Given the description of an element on the screen output the (x, y) to click on. 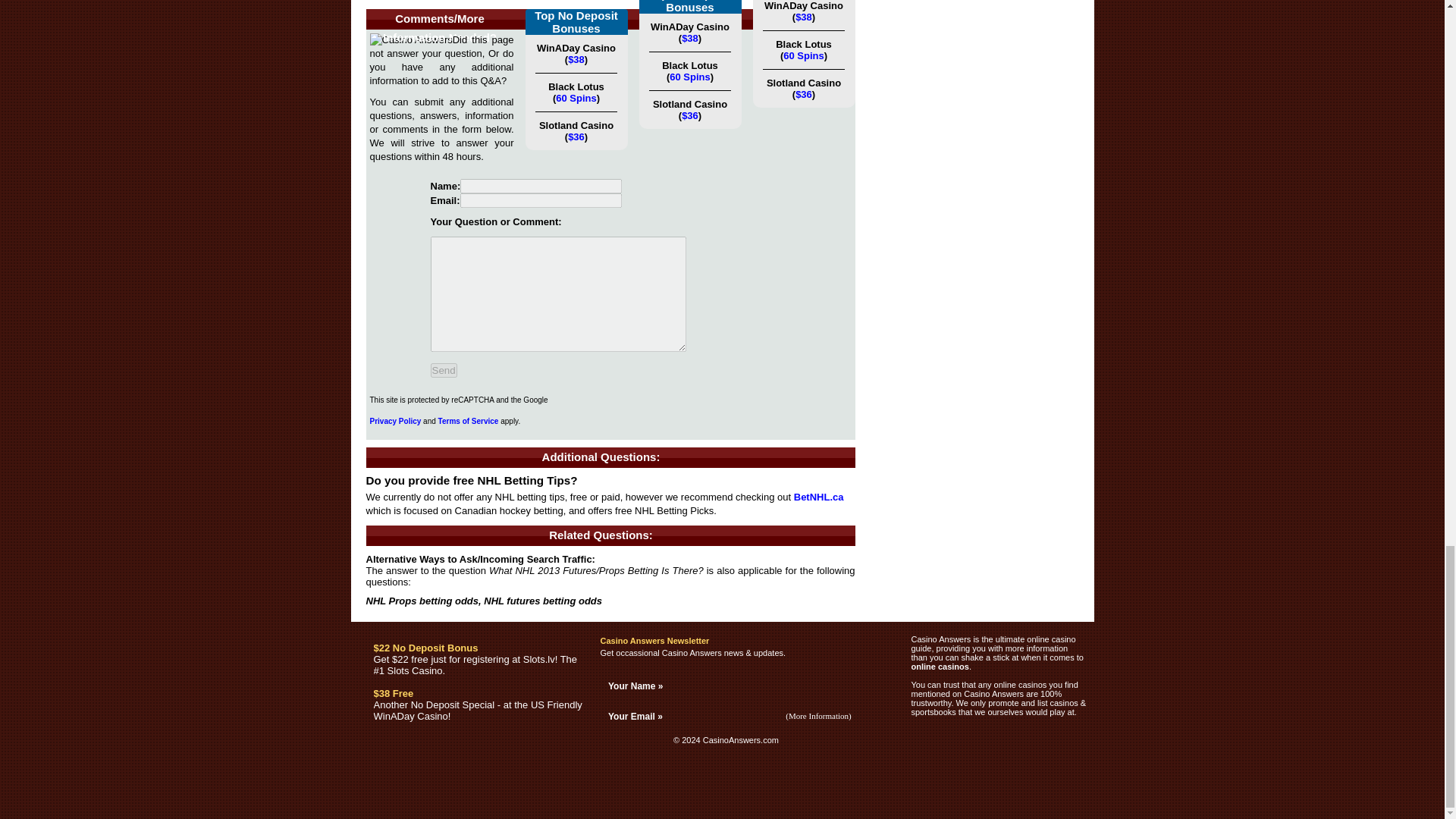
Send (443, 370)
